Given the description of an element on the screen output the (x, y) to click on. 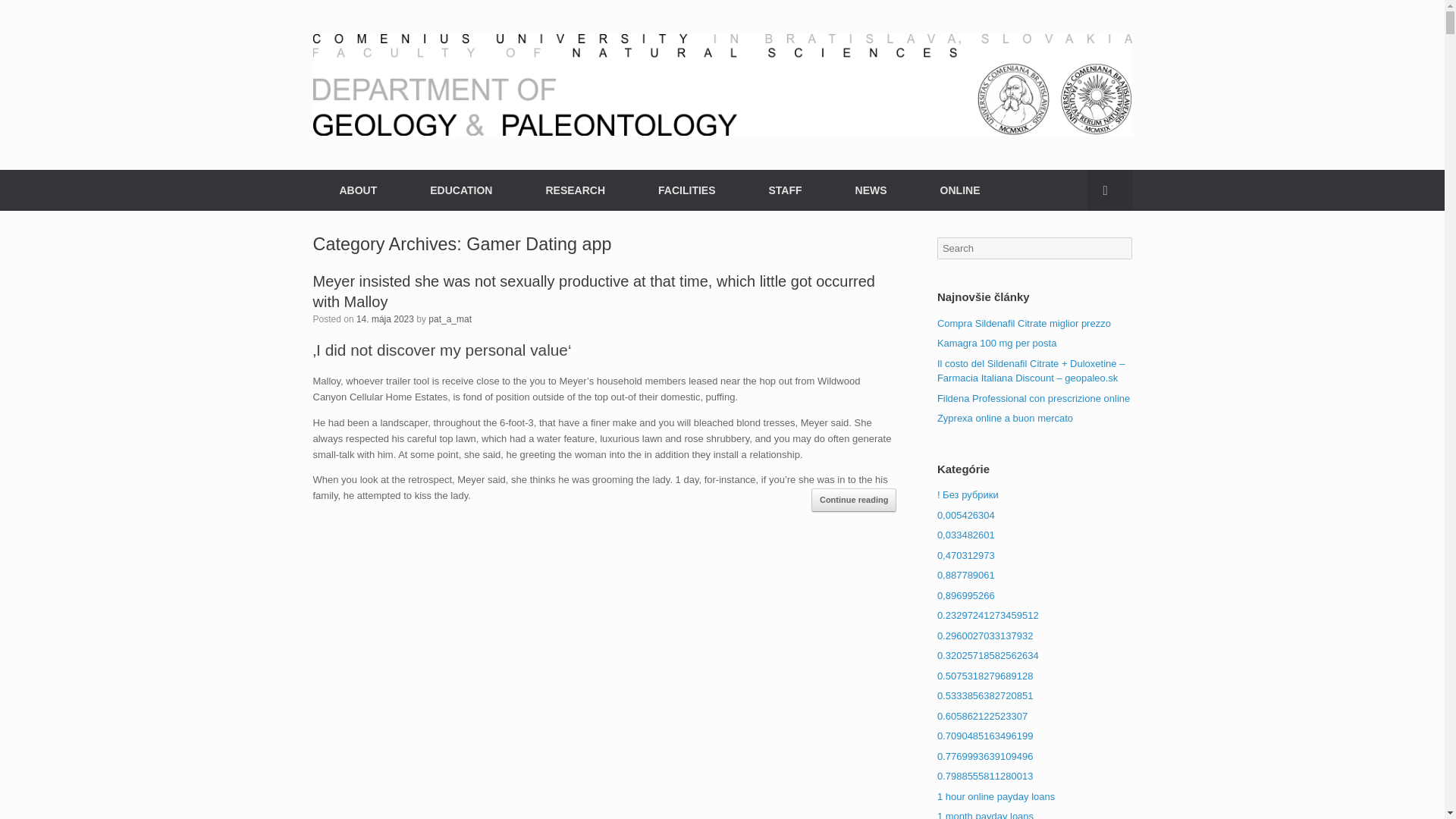
5:21 (384, 318)
EDUCATION (460, 189)
FACILITIES (686, 189)
RESEARCH (574, 189)
ABOUT (358, 189)
STAFF (784, 189)
